Given the description of an element on the screen output the (x, y) to click on. 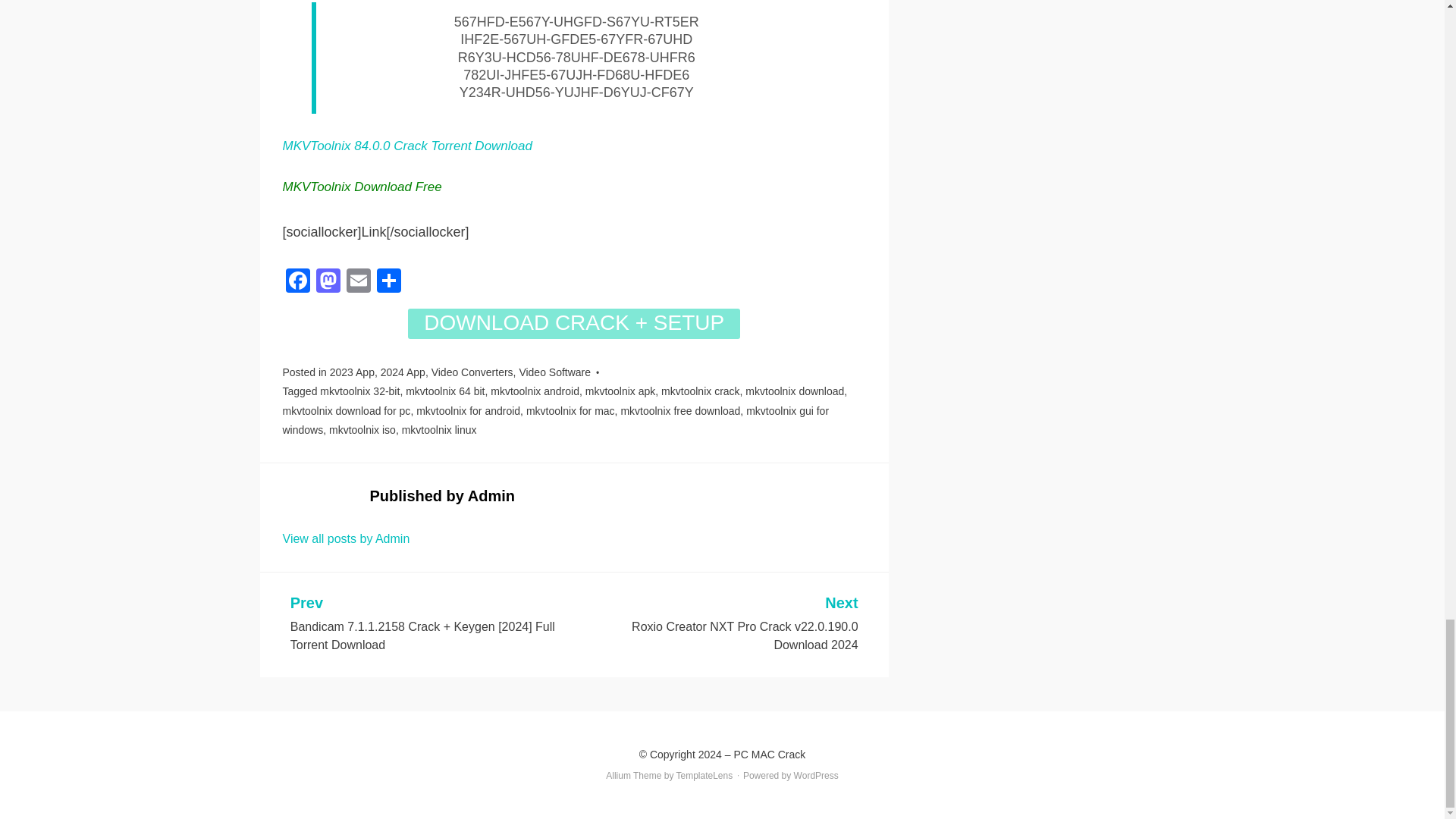
Video Converters (471, 372)
mkvtoolnix free download (679, 410)
2024 App (402, 372)
mkvtoolnix android (534, 390)
2023 App (352, 372)
mkvtoolnix for mac (569, 410)
mkvtoolnix for android (467, 410)
Video Software (554, 372)
Facebook (297, 282)
mkvtoolnix 32-bit (359, 390)
mkvtoolnix iso (362, 429)
Mastodon (327, 282)
MKVToolnix 84.0.0 Crack Torrent Download (406, 145)
mkvtoolnix gui for windows (555, 419)
TemplateLens (705, 775)
